Given the description of an element on the screen output the (x, y) to click on. 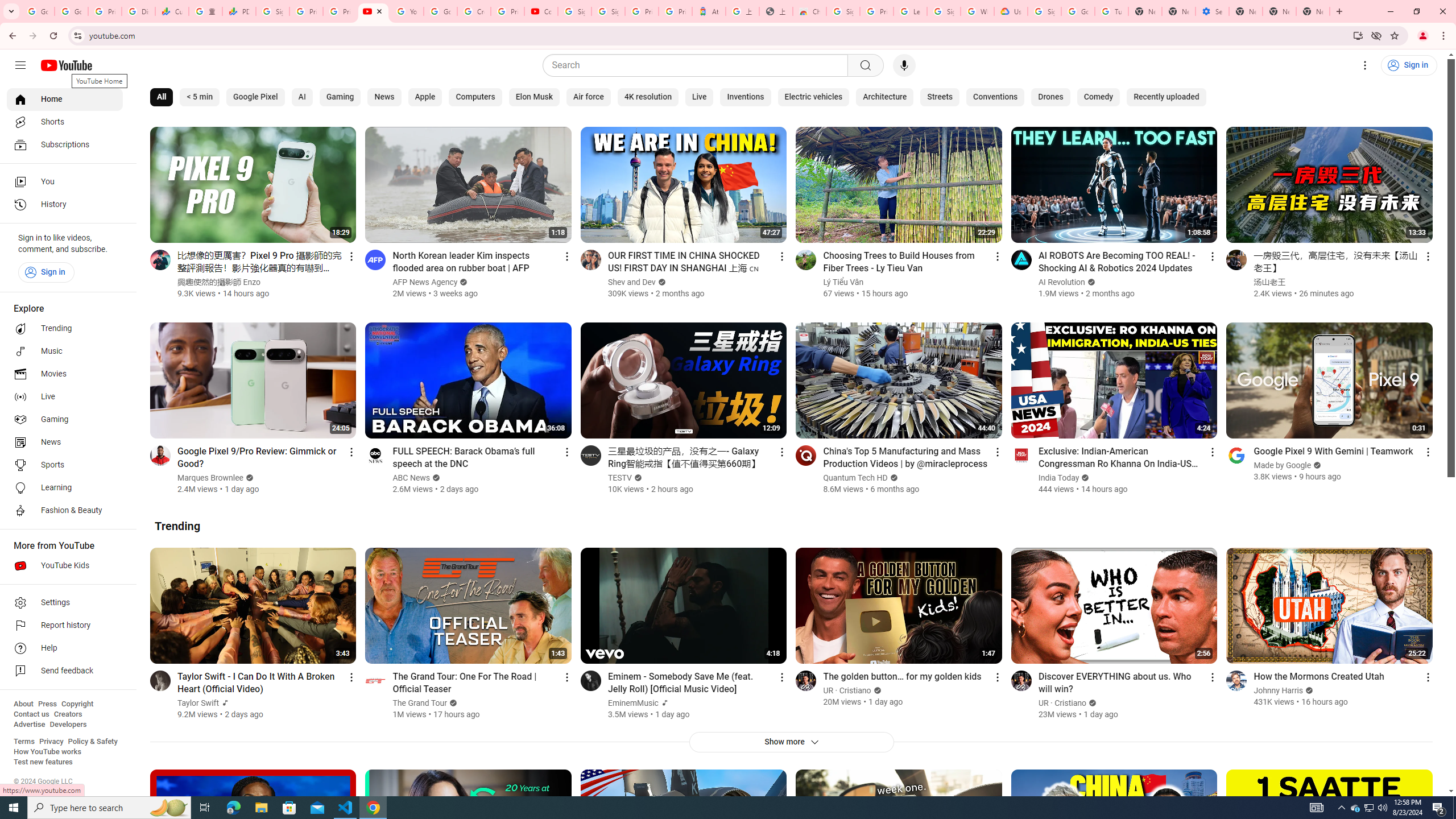
YouTube (372, 11)
Inventions (745, 97)
Live (64, 396)
AI Revolution (1062, 282)
Johnny Harris (1278, 690)
Install YouTube (1358, 35)
EminemMusic (633, 702)
Music (64, 350)
News (383, 97)
Sign in - Google Accounts (1043, 11)
